Given the description of an element on the screen output the (x, y) to click on. 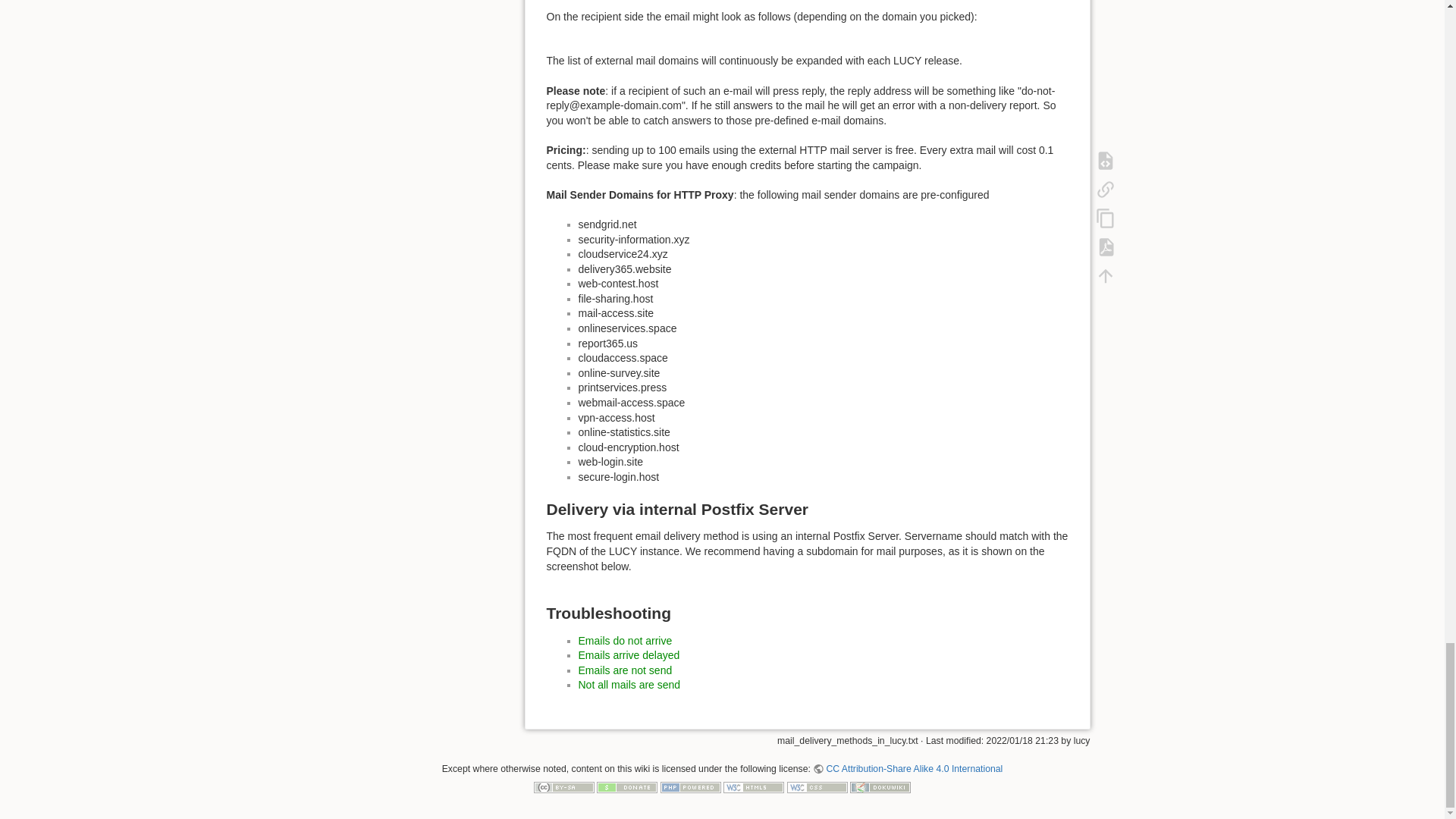
Emails do not arrive (624, 639)
Not all mails are send (628, 684)
Emails are not send (624, 670)
Emails arrive delayed (628, 654)
